Given the description of an element on the screen output the (x, y) to click on. 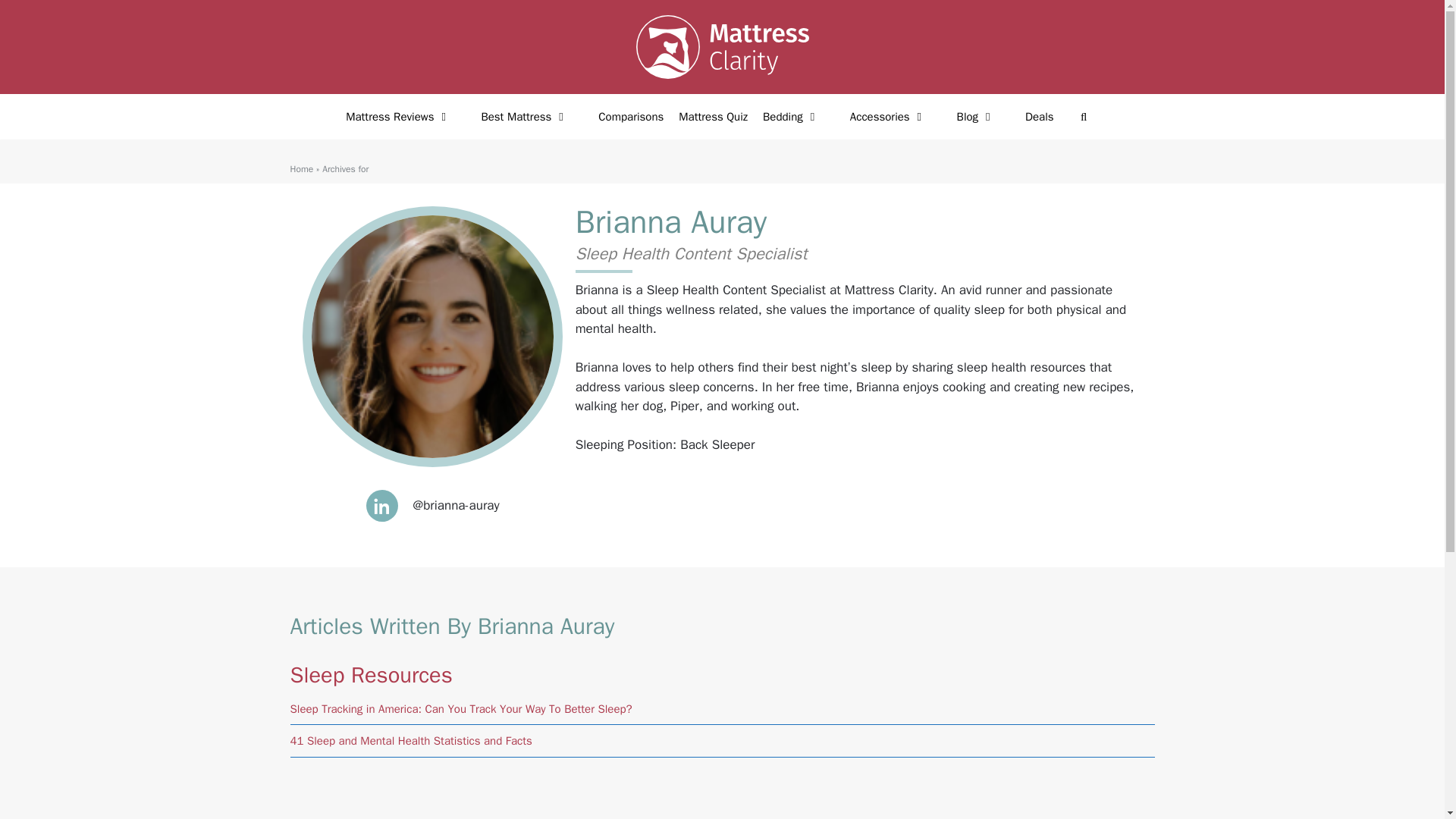
Mattress Clarity (721, 45)
Mattress Clarity (721, 46)
